Given the description of an element on the screen output the (x, y) to click on. 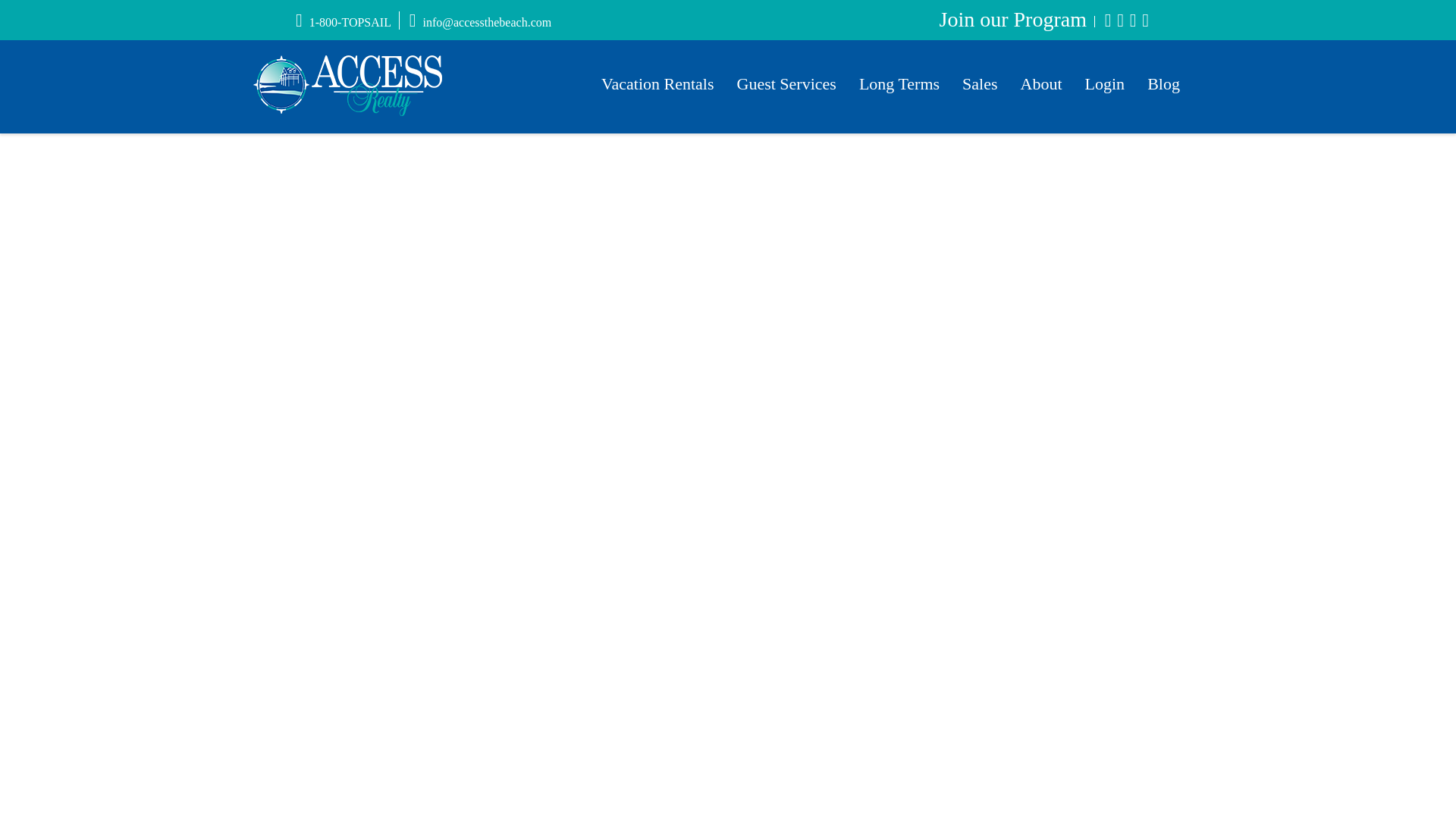
Vacation Rentals (657, 83)
Join our Program (1012, 19)
1-800-TOPSAIL (343, 21)
